Given the description of an element on the screen output the (x, y) to click on. 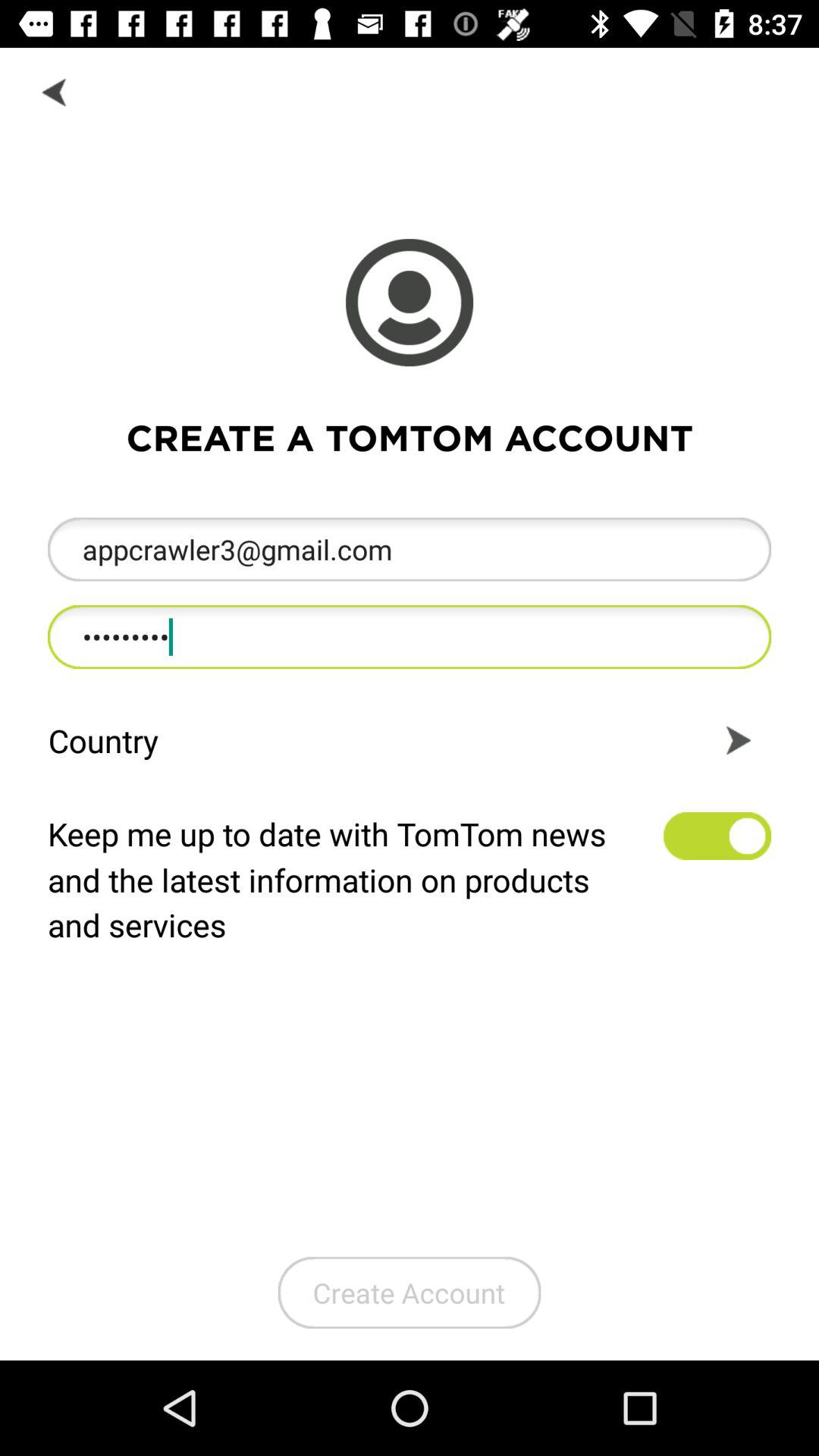
click slider to get news (717, 835)
